Given the description of an element on the screen output the (x, y) to click on. 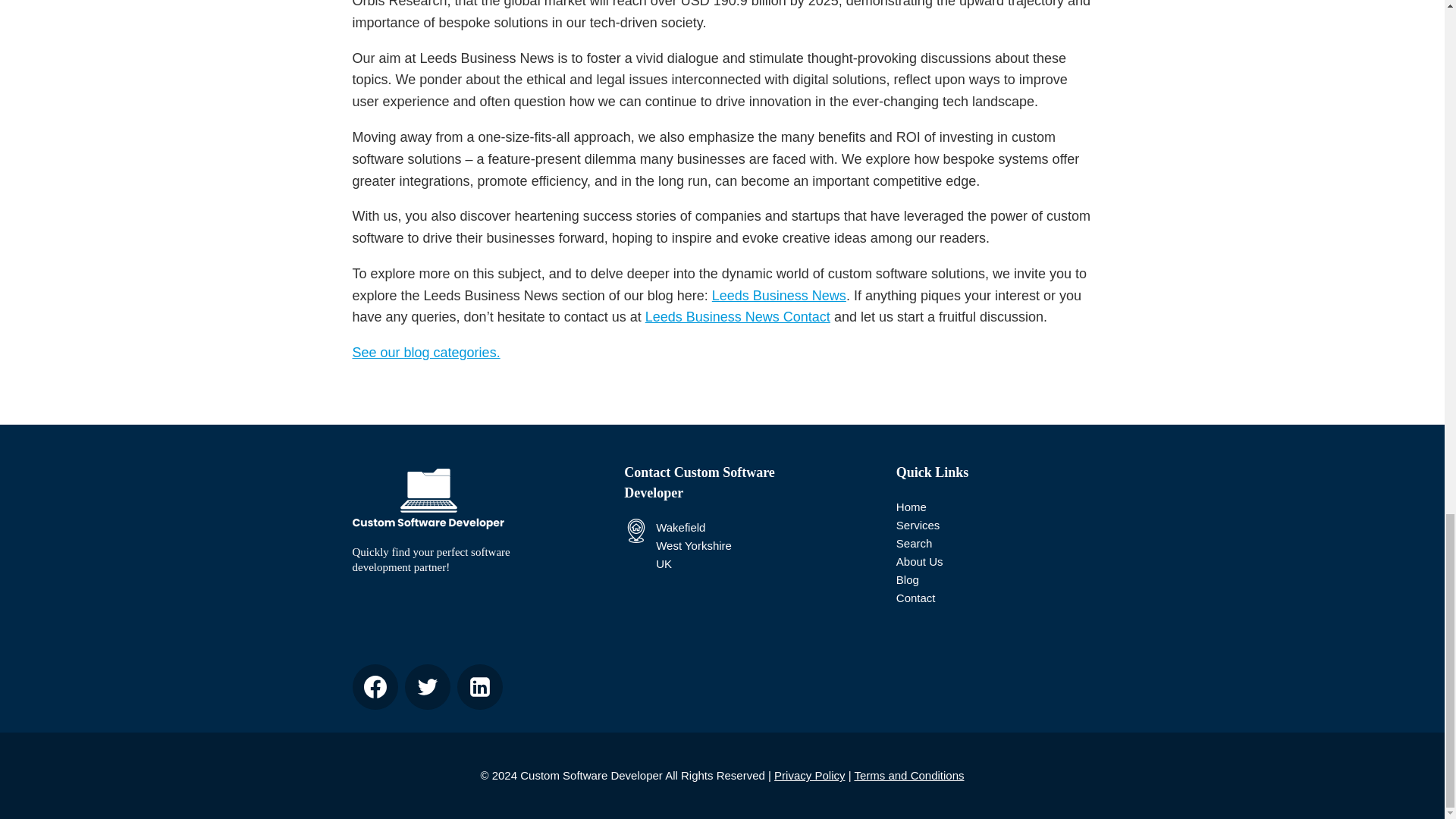
Search (914, 543)
Blog (907, 579)
Terms and Conditions (908, 775)
Home (911, 506)
About Us (919, 561)
Contact (916, 597)
See our blog categories. (425, 352)
Services (918, 524)
Leeds Business News (778, 295)
Contact Custom Software Developer (722, 482)
Leeds Business News Contact (737, 316)
Privacy Policy (809, 775)
